Given the description of an element on the screen output the (x, y) to click on. 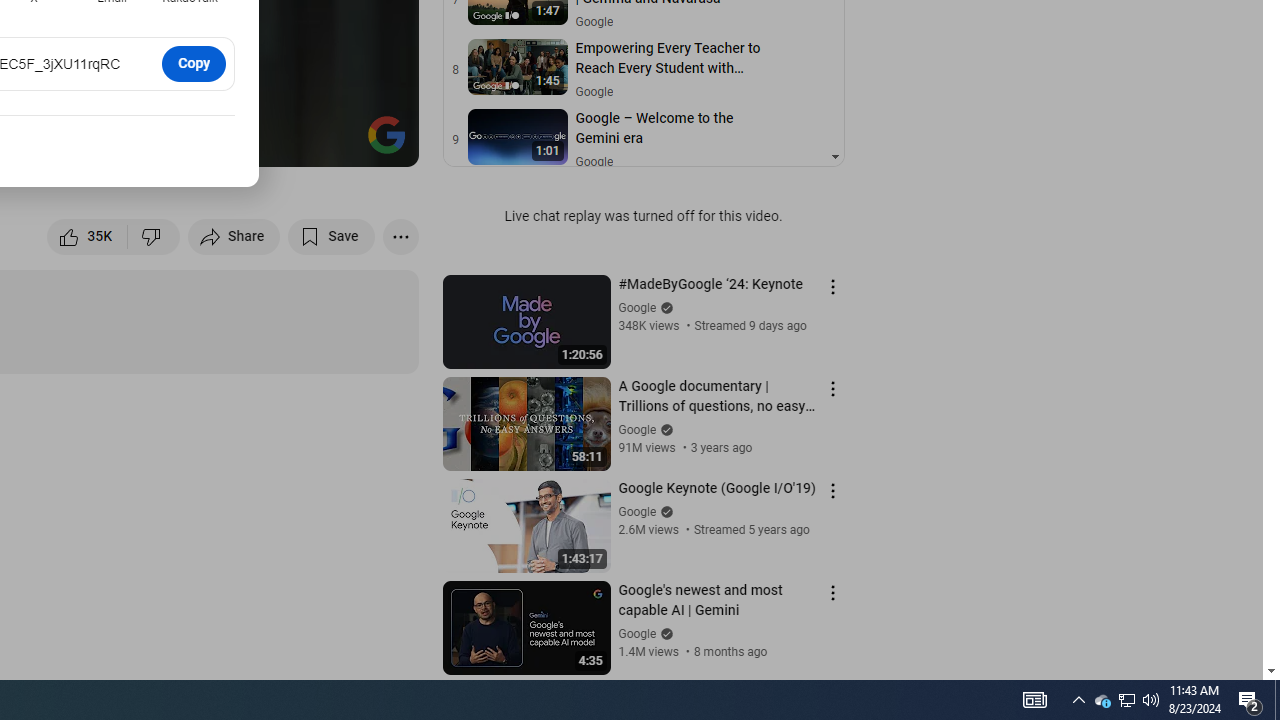
Save to playlist (331, 236)
Channel watermark (386, 134)
Channel watermark (386, 134)
Share (234, 236)
More actions (399, 236)
Theater mode (t) (333, 142)
